Given the description of an element on the screen output the (x, y) to click on. 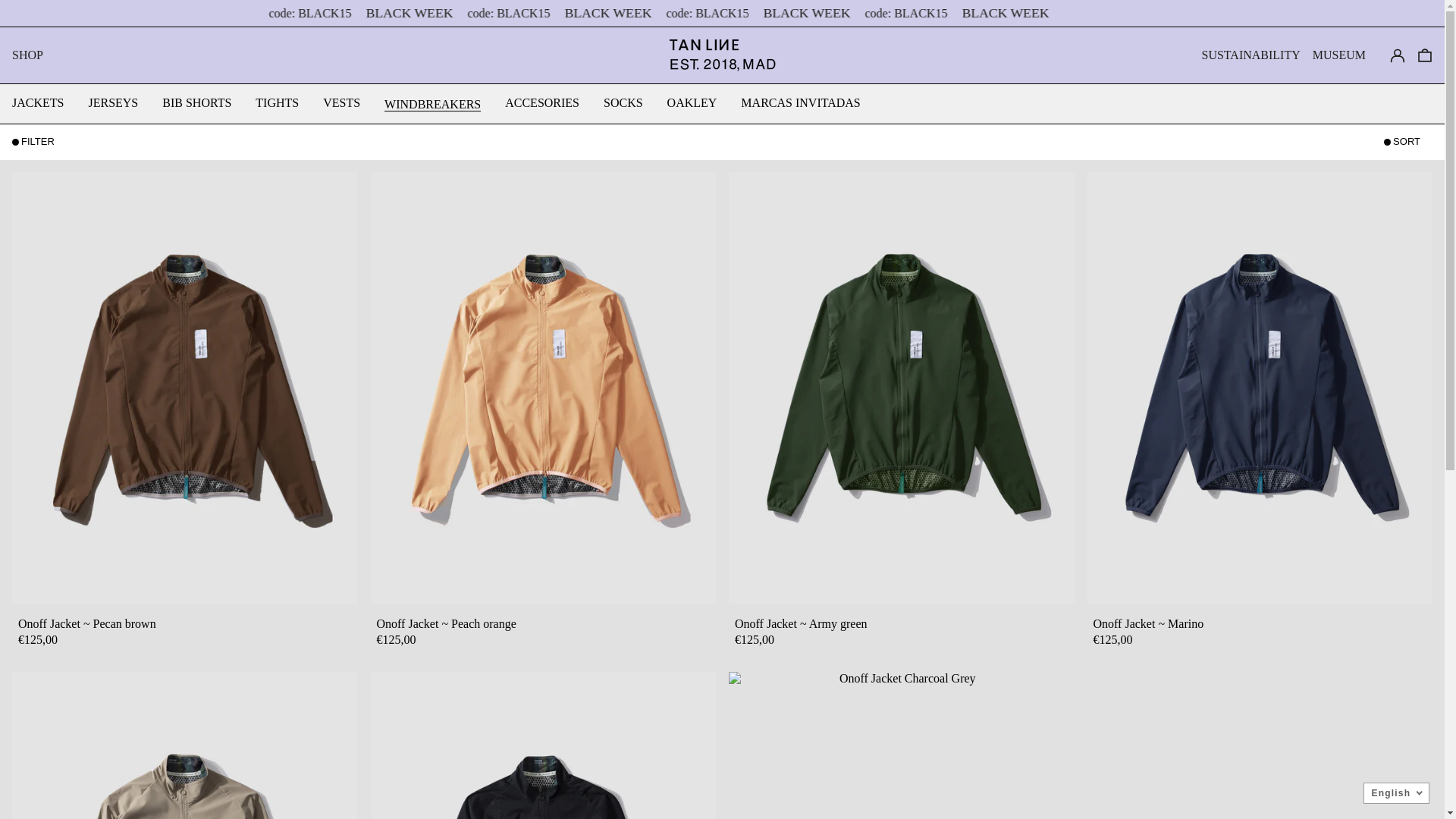
FILTER Element type: text (39, 141)
SHOP Element type: text (27, 55)
JERSEYS Element type: text (112, 103)
JACKETS Element type: text (37, 103)
VESTS Element type: text (341, 103)
SUSTAINABILITY Element type: text (1250, 55)
ACCESORIES Element type: text (542, 103)
SORT Element type: text (1407, 141)
MARCAS INVITADAS Element type: text (799, 103)
0 ITEMS Element type: text (1424, 55)
OAKLEY Element type: text (692, 103)
TIGHTS Element type: text (276, 103)
LOG IN Element type: text (1397, 55)
WINDBREAKERS Element type: text (432, 103)
MUSEUM Element type: text (1338, 55)
SOCKS Element type: text (623, 103)
BIB SHORTS Element type: text (196, 103)
